Given the description of an element on the screen output the (x, y) to click on. 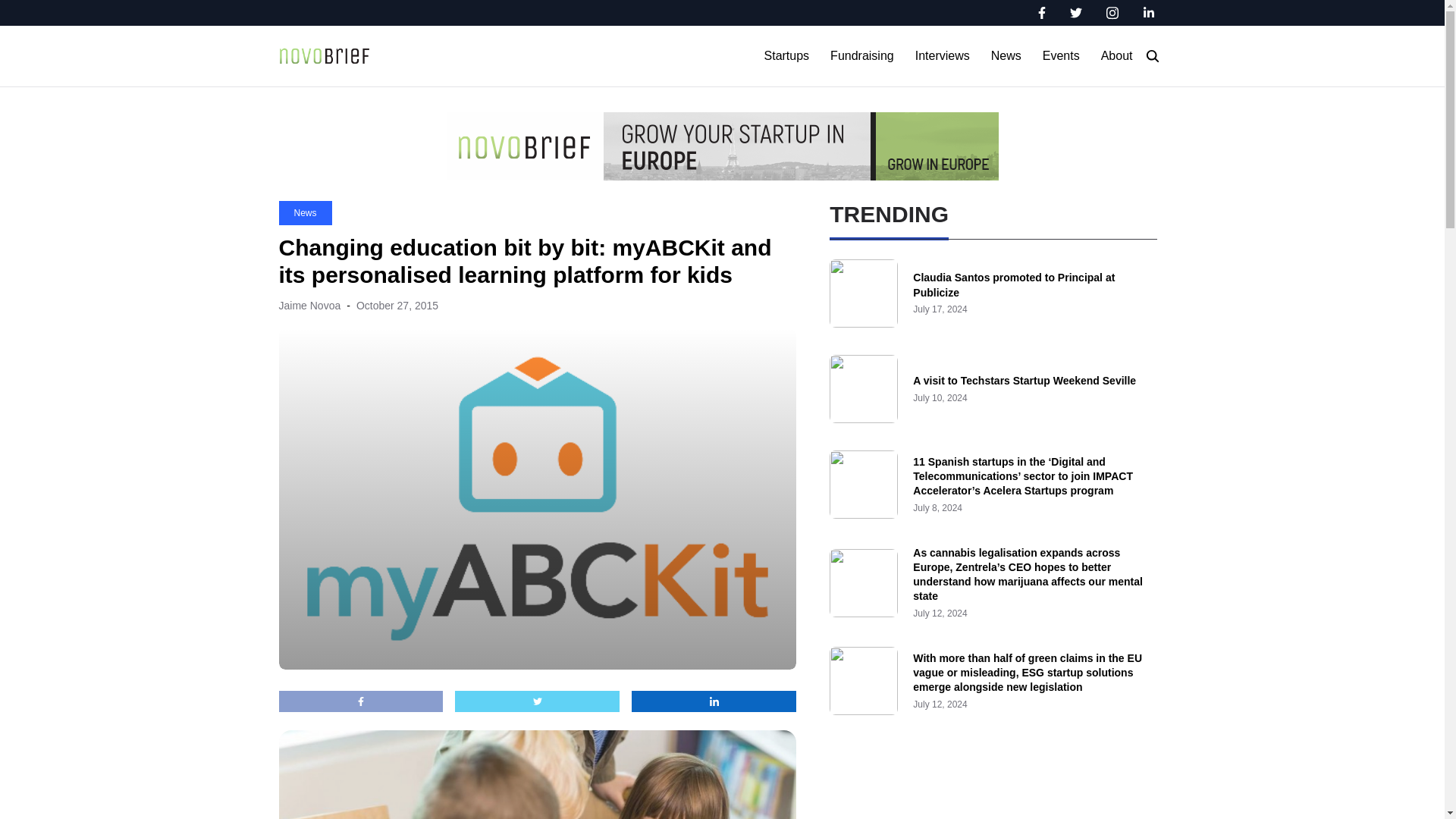
Fundraising (861, 55)
Interviews (942, 55)
Jaime Novoa (309, 305)
Startups (786, 55)
News (1006, 55)
News (305, 212)
Events (1061, 55)
About (1116, 55)
